Given the description of an element on the screen output the (x, y) to click on. 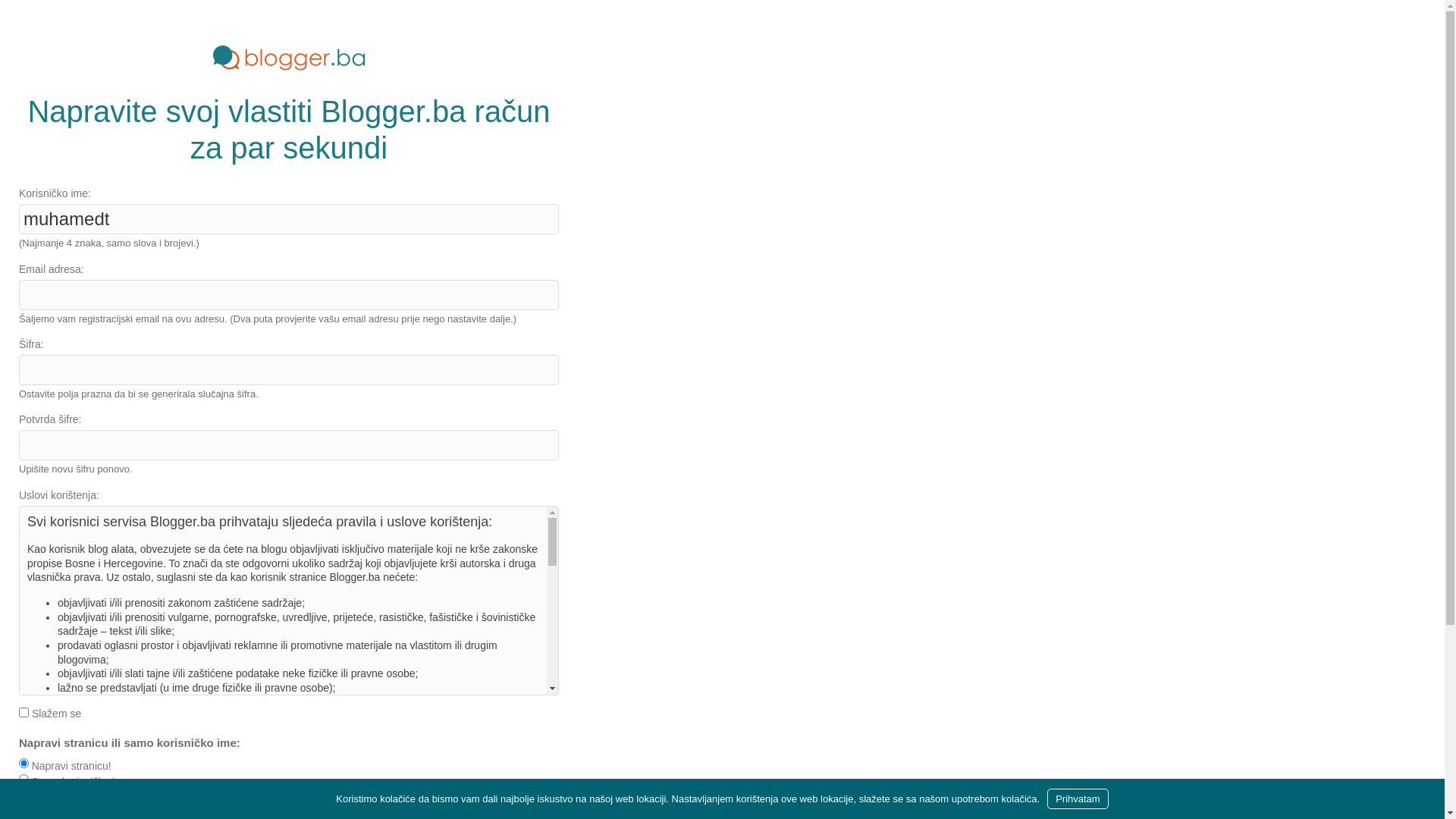
Prihvatam Element type: text (1077, 798)
